Given the description of an element on the screen output the (x, y) to click on. 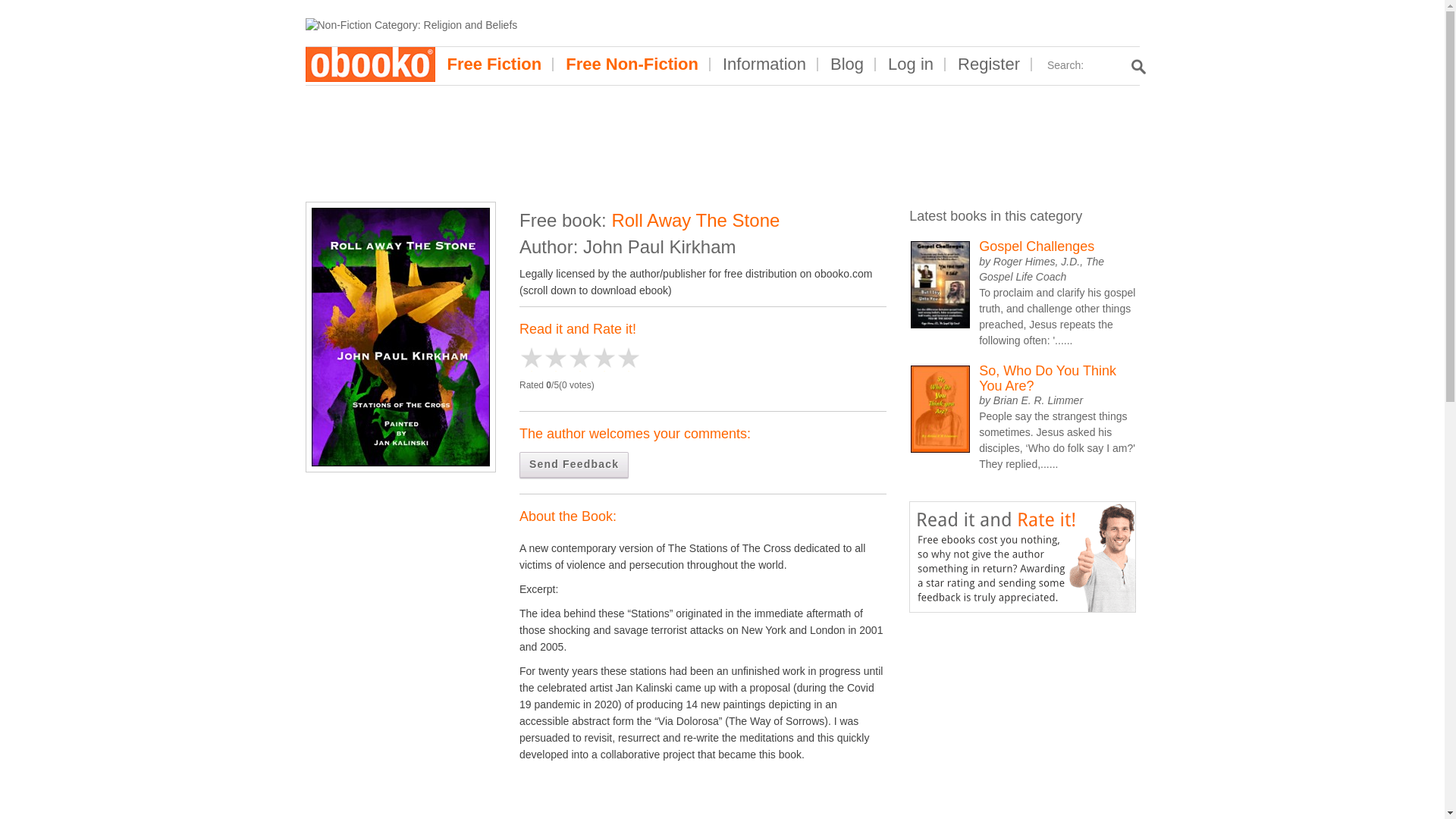
5 stars out of 5 (579, 359)
Roll Away The Stone (400, 337)
3 (555, 359)
Free Fiction (494, 63)
Information (764, 63)
2 (543, 359)
Send Feedback (573, 465)
Blog (847, 63)
Register (988, 63)
Free Non-Fiction (631, 63)
Log in (910, 63)
5 (579, 359)
1 star out of 5 (531, 359)
2 stars out of 5 (543, 359)
Send Feedback (573, 465)
